Given the description of an element on the screen output the (x, y) to click on. 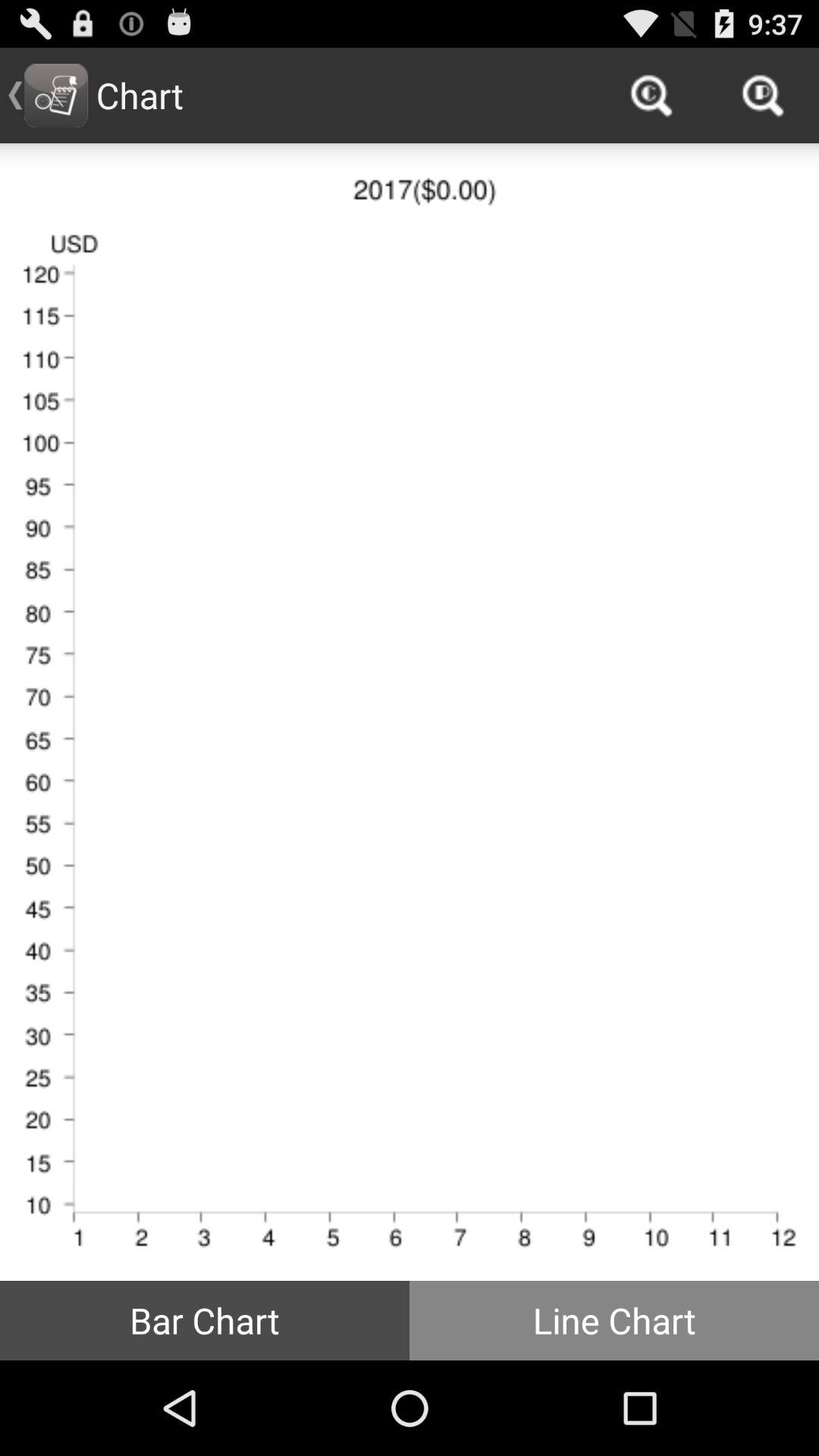
turn on icon to the left of the line chart button (204, 1320)
